Given the description of an element on the screen output the (x, y) to click on. 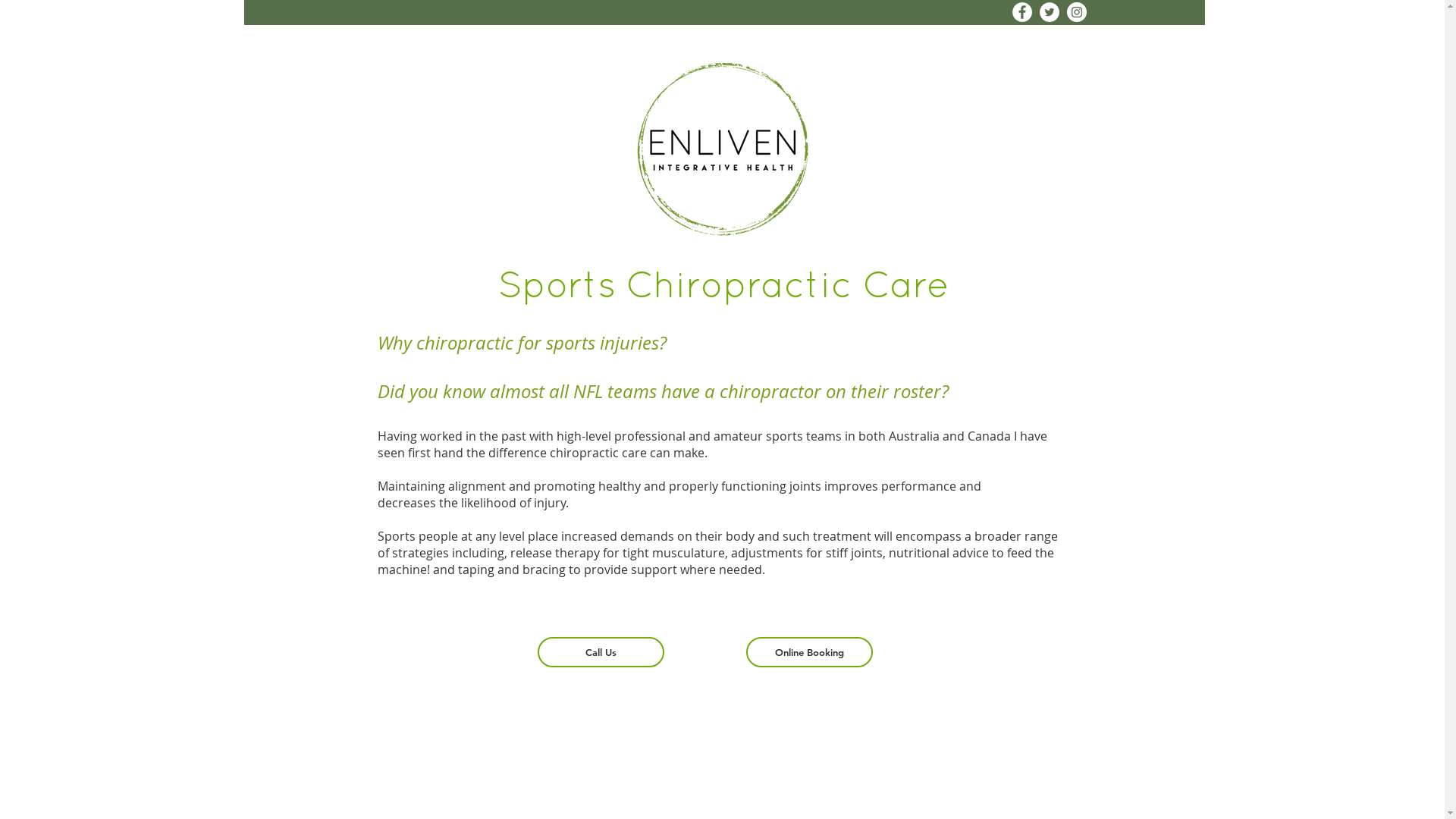
Call Us Element type: text (599, 652)
Online Booking Element type: text (809, 652)
